Given the description of an element on the screen output the (x, y) to click on. 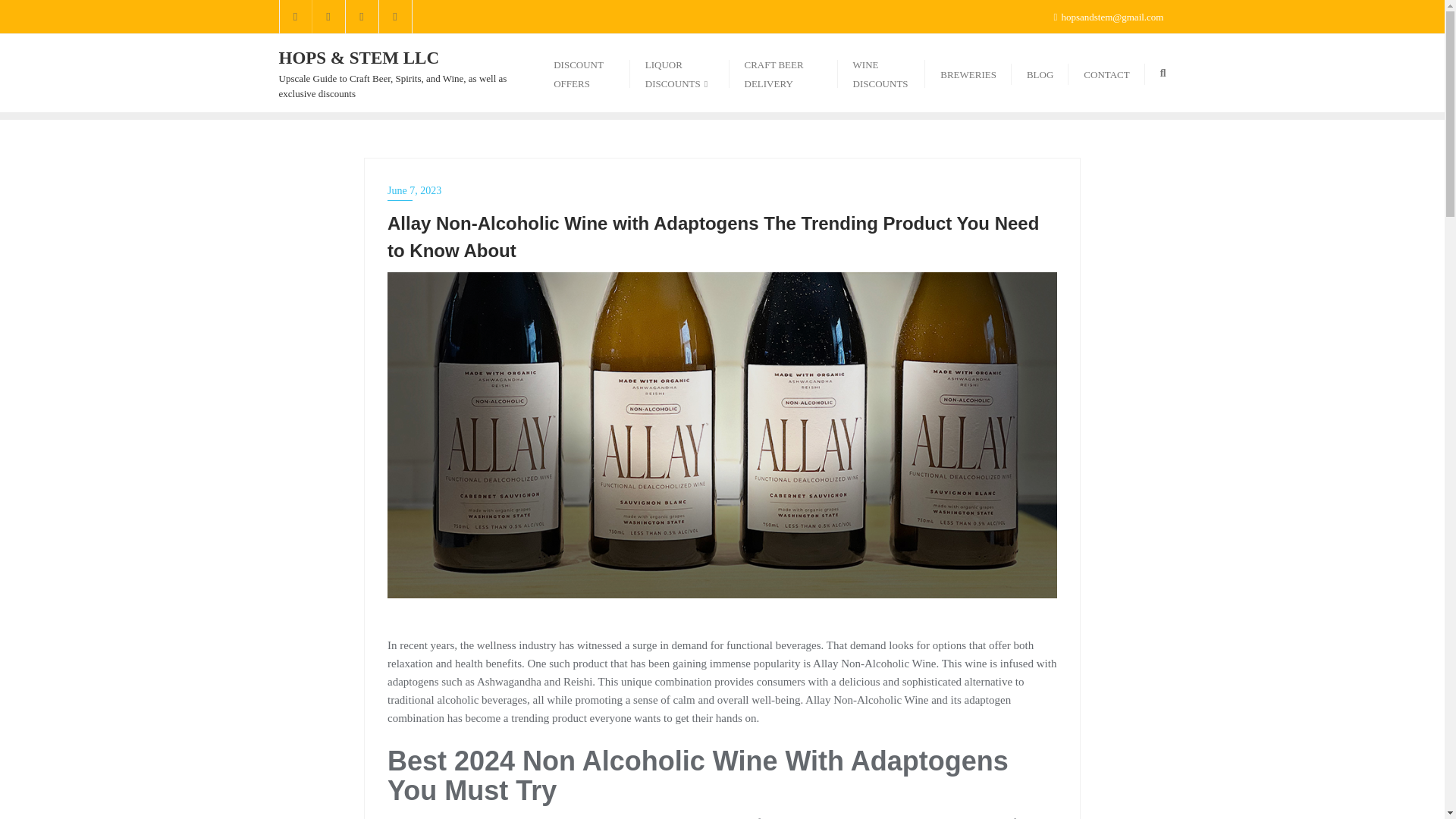
CONTACT (1106, 73)
DISCOUNT OFFERS (584, 72)
BLOG (1039, 73)
WINE DISCOUNTS (882, 72)
LIQUOR DISCOUNTS (679, 72)
BREWERIES (967, 73)
CRAFT BEER DELIVERY (783, 72)
June 7, 2023 (722, 189)
